Given the description of an element on the screen output the (x, y) to click on. 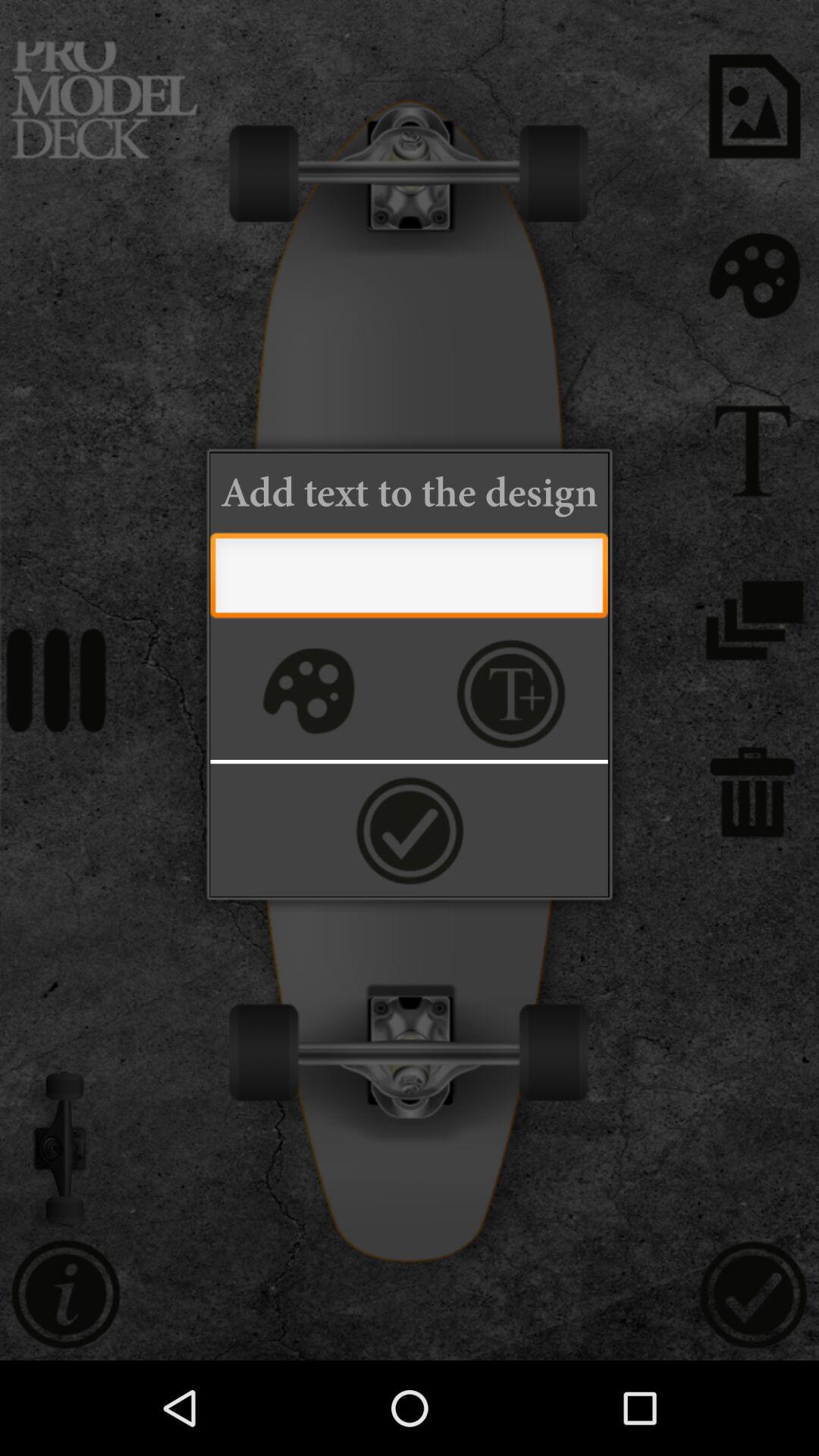
advance (408, 829)
